Given the description of an element on the screen output the (x, y) to click on. 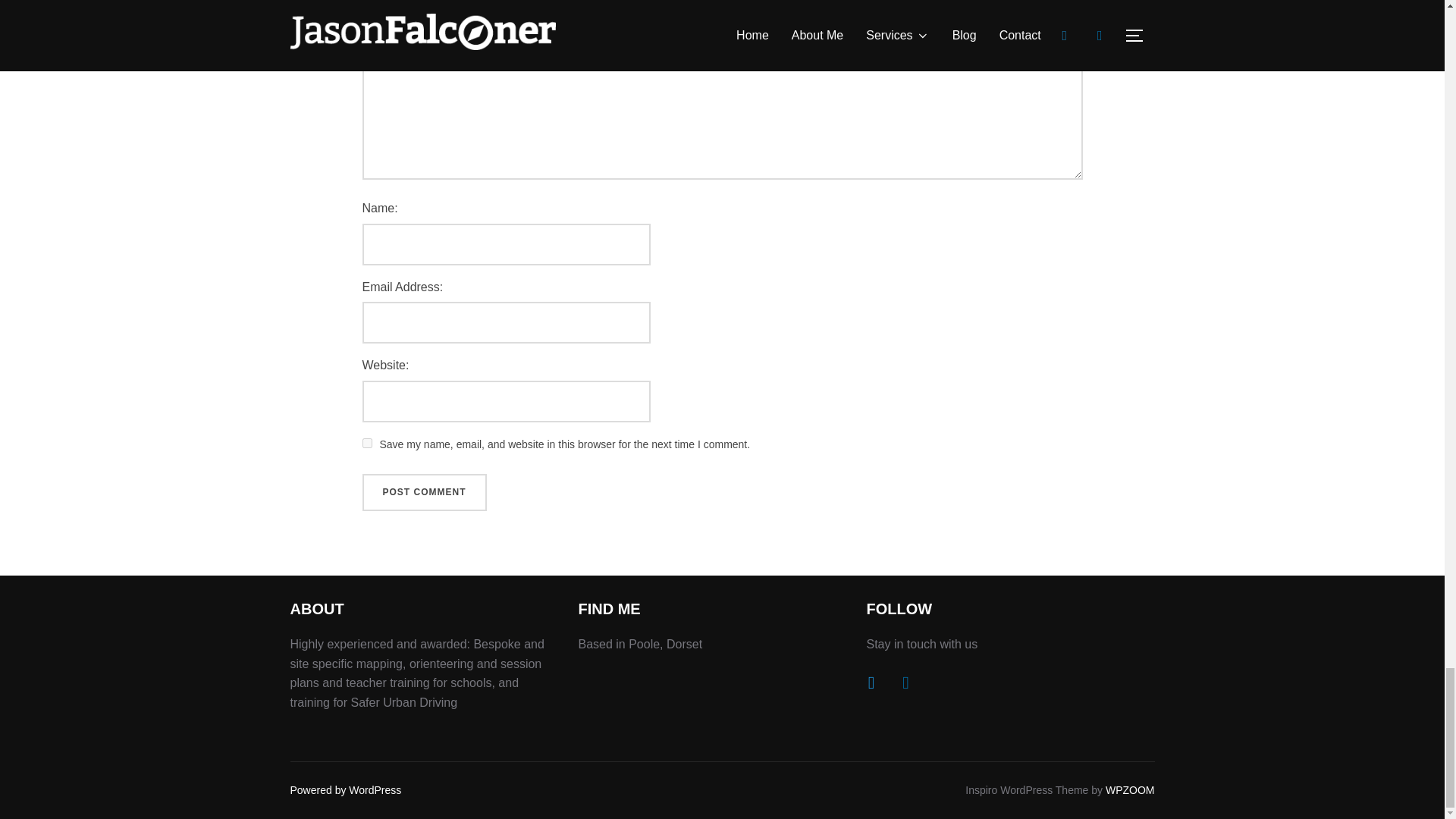
yes (367, 442)
Post Comment (424, 492)
Follow Me (871, 681)
